Given the description of an element on the screen output the (x, y) to click on. 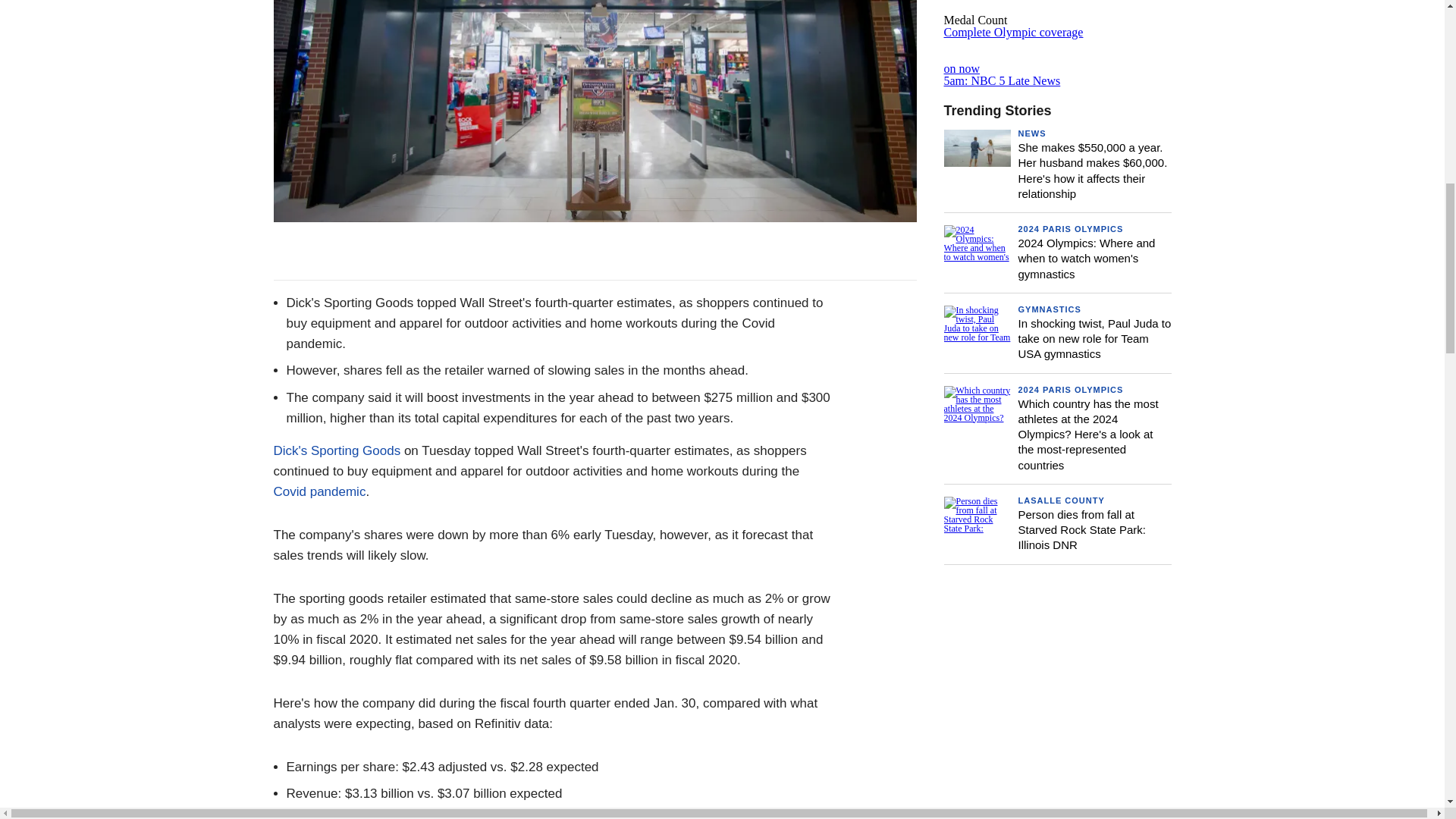
Dick's Sporting Goods (336, 450)
Covid pandemic (319, 491)
